Given the description of an element on the screen output the (x, y) to click on. 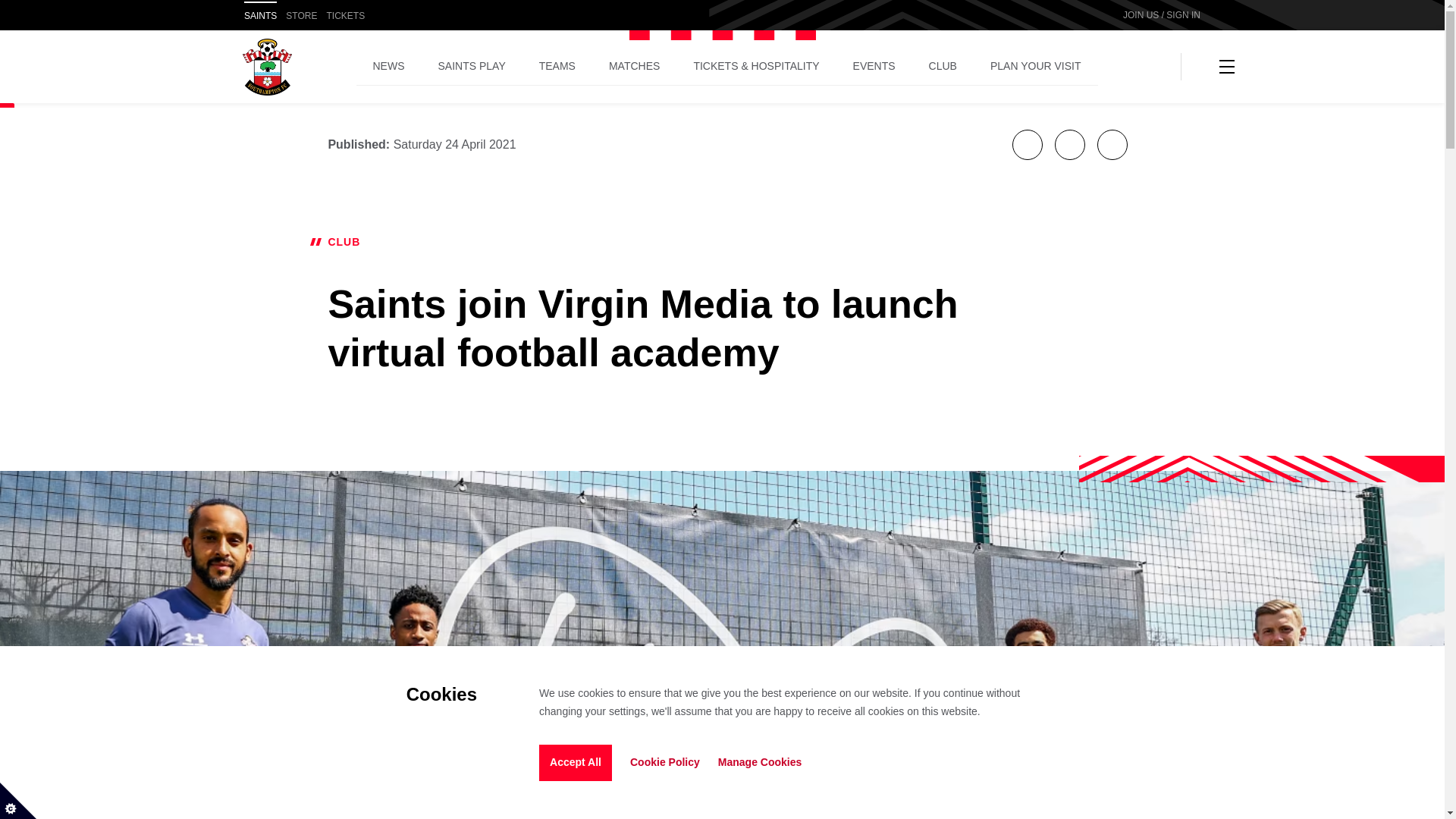
TICKETS (345, 16)
twitter (1069, 144)
PLAN YOUR VISIT (1035, 66)
SAINTS PLAY (472, 66)
copy-link (1111, 144)
TEAMS (557, 66)
Tickets (345, 16)
facebook (1026, 144)
MATCHES (634, 66)
STORE (301, 16)
SAINTS (260, 16)
NEWS (389, 66)
Saints (260, 16)
Store (301, 16)
EVENTS (873, 66)
